Given the description of an element on the screen output the (x, y) to click on. 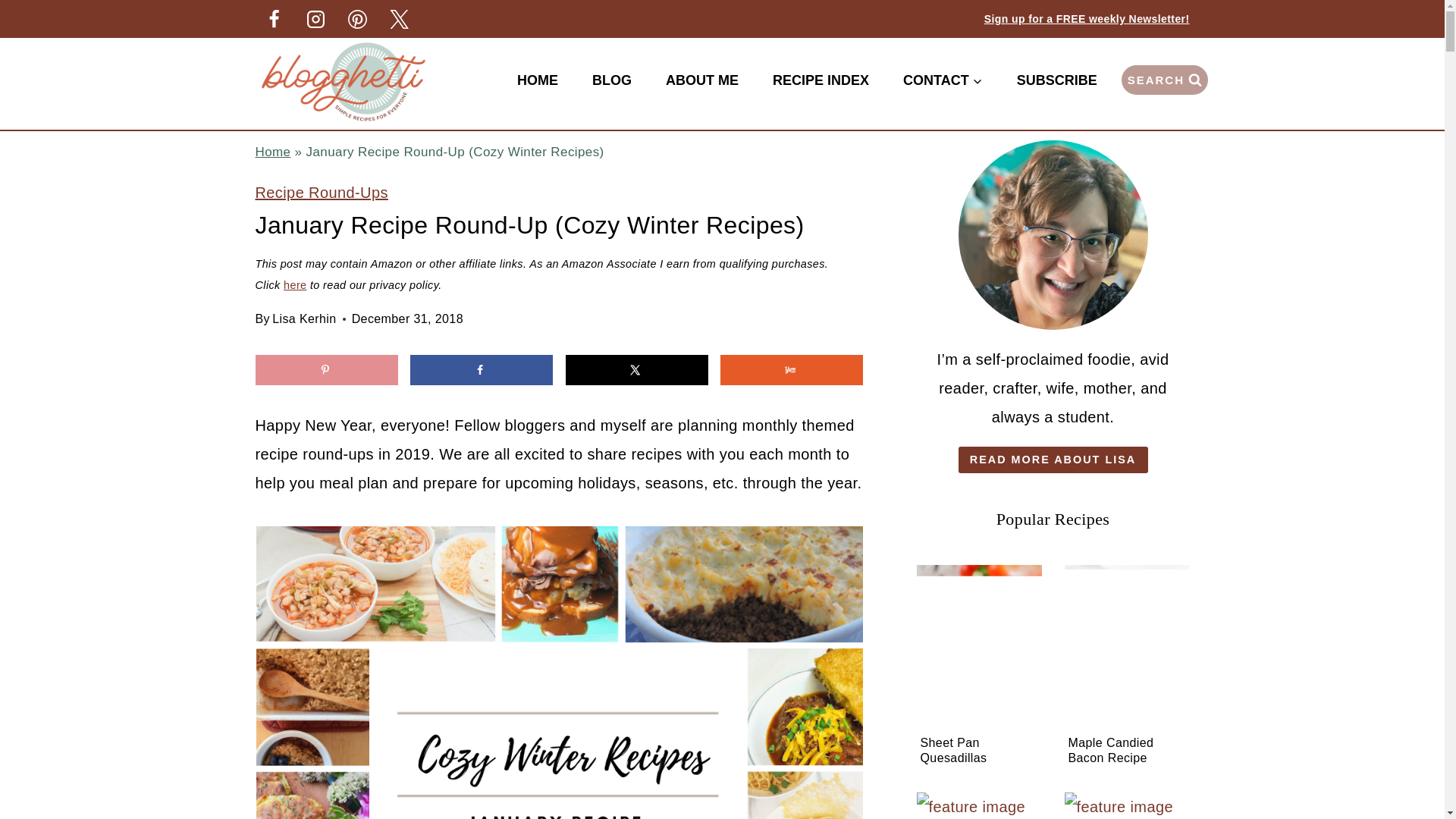
CONTACT (941, 80)
ABOUT ME (701, 80)
HOME (537, 80)
here (294, 285)
Recipe Round-Ups (320, 192)
SUBSCRIBE (1055, 80)
Home (271, 151)
Lisa Kerhin (304, 318)
Save to Pinterest (325, 369)
Share on Facebook (481, 369)
